Given the description of an element on the screen output the (x, y) to click on. 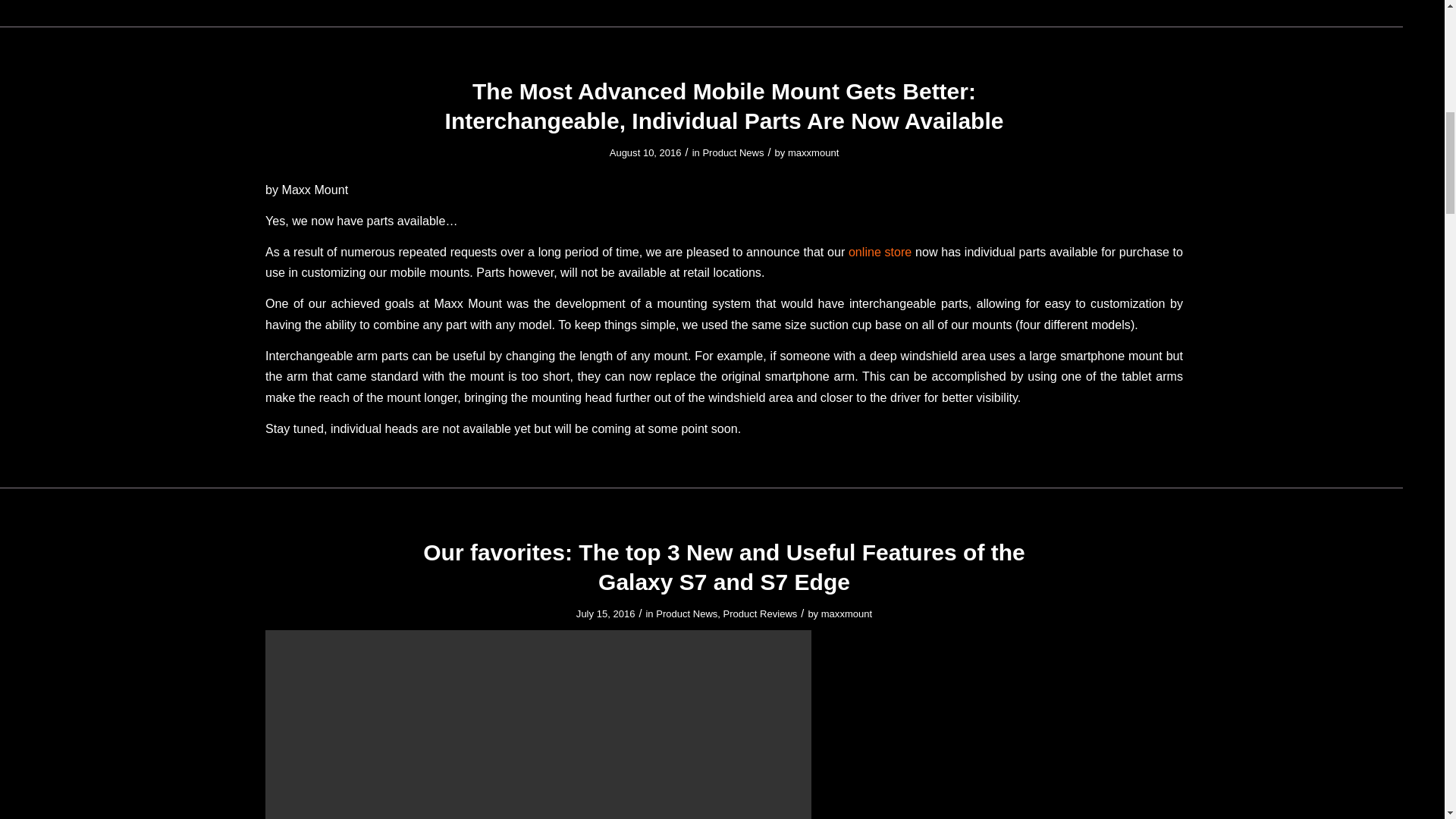
Posts by maxxmount (846, 613)
Posts by maxxmount (812, 152)
maxxmount (812, 152)
online store (879, 251)
Product News (686, 613)
Product News (731, 152)
Product Reviews (760, 613)
